Given the description of an element on the screen output the (x, y) to click on. 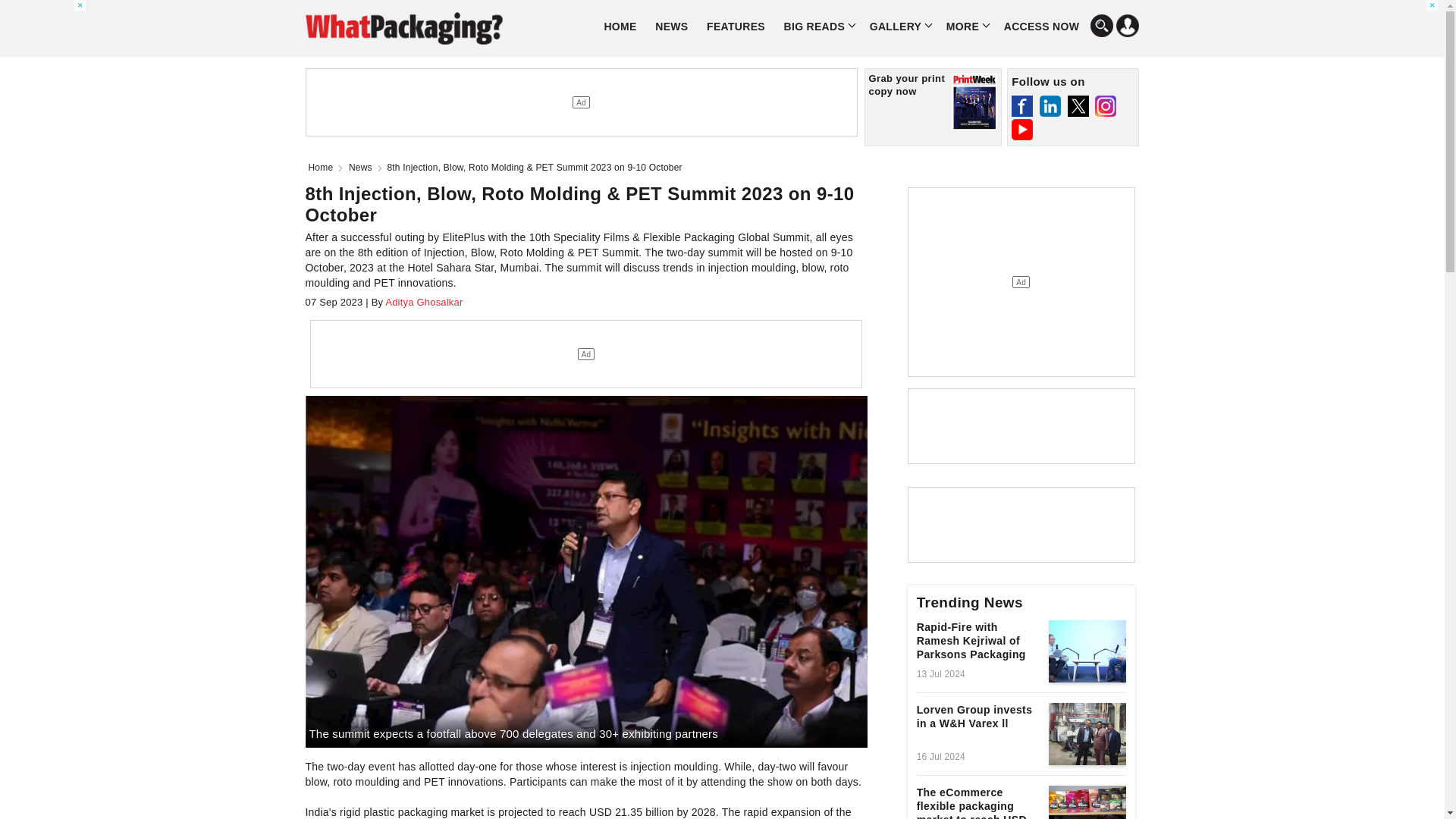
Rapid-Fire with Ramesh Kejriwal of Parksons Packaging (1086, 650)
WhatPackaging? Instagram (1105, 106)
GALLERY (897, 26)
The eCommerce flexible packaging market to reach USD 72-bn (1086, 802)
MORE (965, 26)
ACCESS NOW (1040, 26)
NEWS (671, 26)
WhatPackaging? Facebook (1021, 106)
Aditya Ghosalkar (422, 301)
Home (323, 167)
FEATURES (735, 26)
Grab your print copy now (933, 107)
WhatPackaging? YouTube (1021, 129)
Rapid-Fire with Ramesh Kejriwal of Parksons Packaging (979, 642)
BIG READS (817, 26)
